Given the description of an element on the screen output the (x, y) to click on. 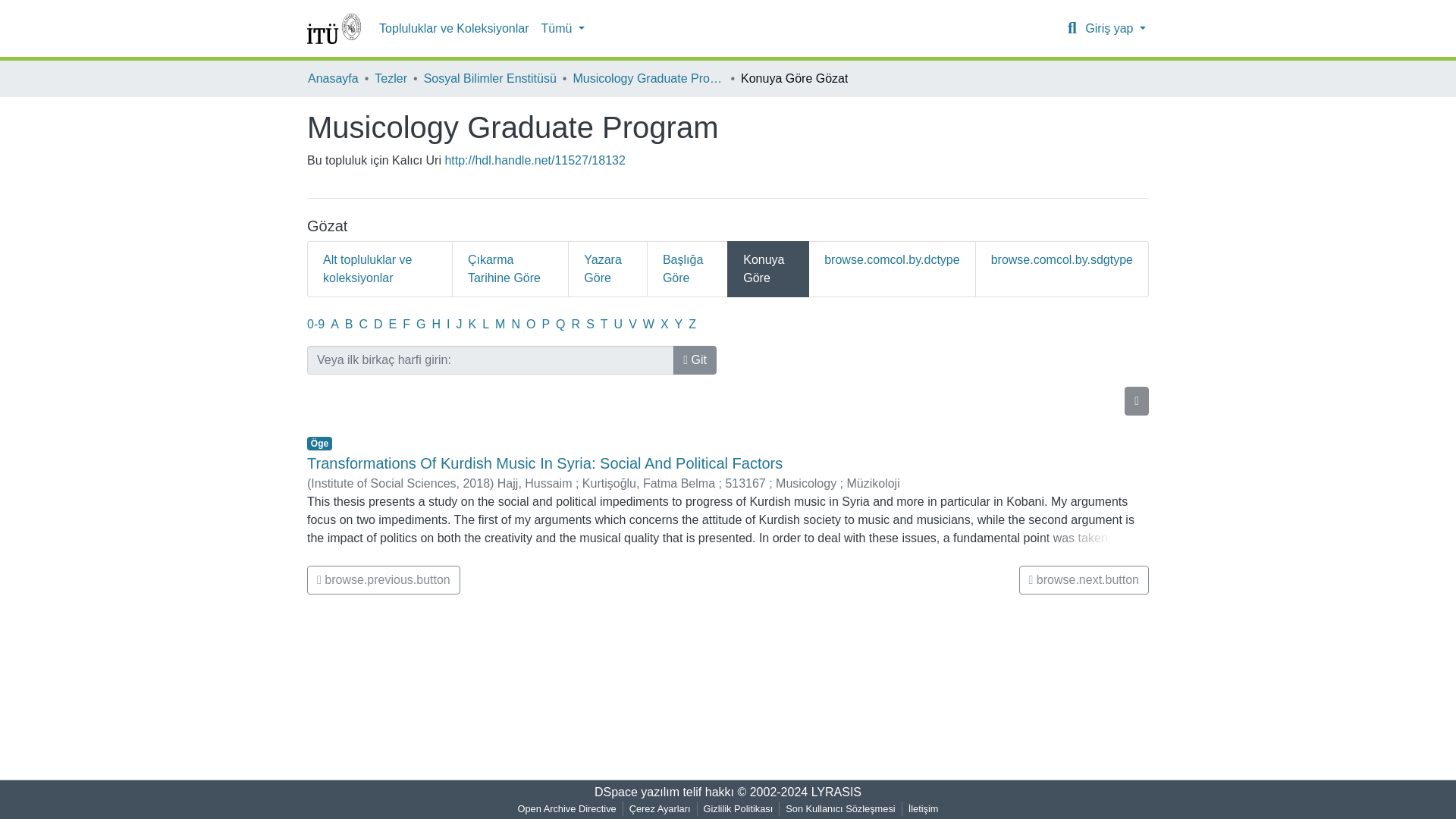
0-9 (315, 323)
Anasayfa (332, 78)
browse.comcol.by.sdgtype (1061, 268)
Topluluklar ve Koleksiyonlar (453, 28)
Arama (1072, 28)
Topluluklar ve Koleksiyonlar (453, 28)
browse.comcol.by.dctype (891, 268)
Tezler (390, 78)
Alt topluluklar ve koleksiyonlar (379, 268)
Musicology Graduate Program (647, 78)
